Given the description of an element on the screen output the (x, y) to click on. 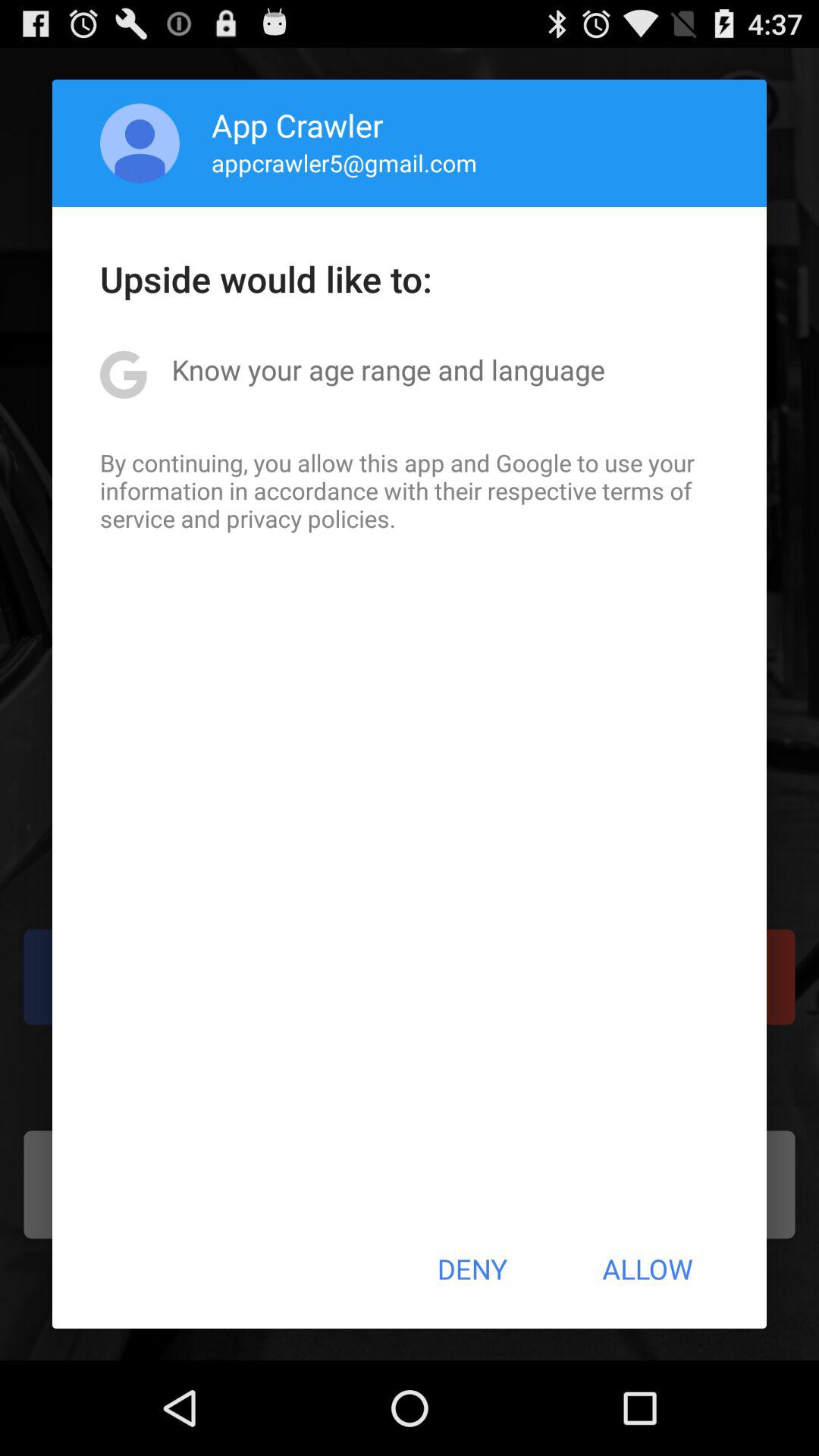
open app crawler (297, 124)
